Given the description of an element on the screen output the (x, y) to click on. 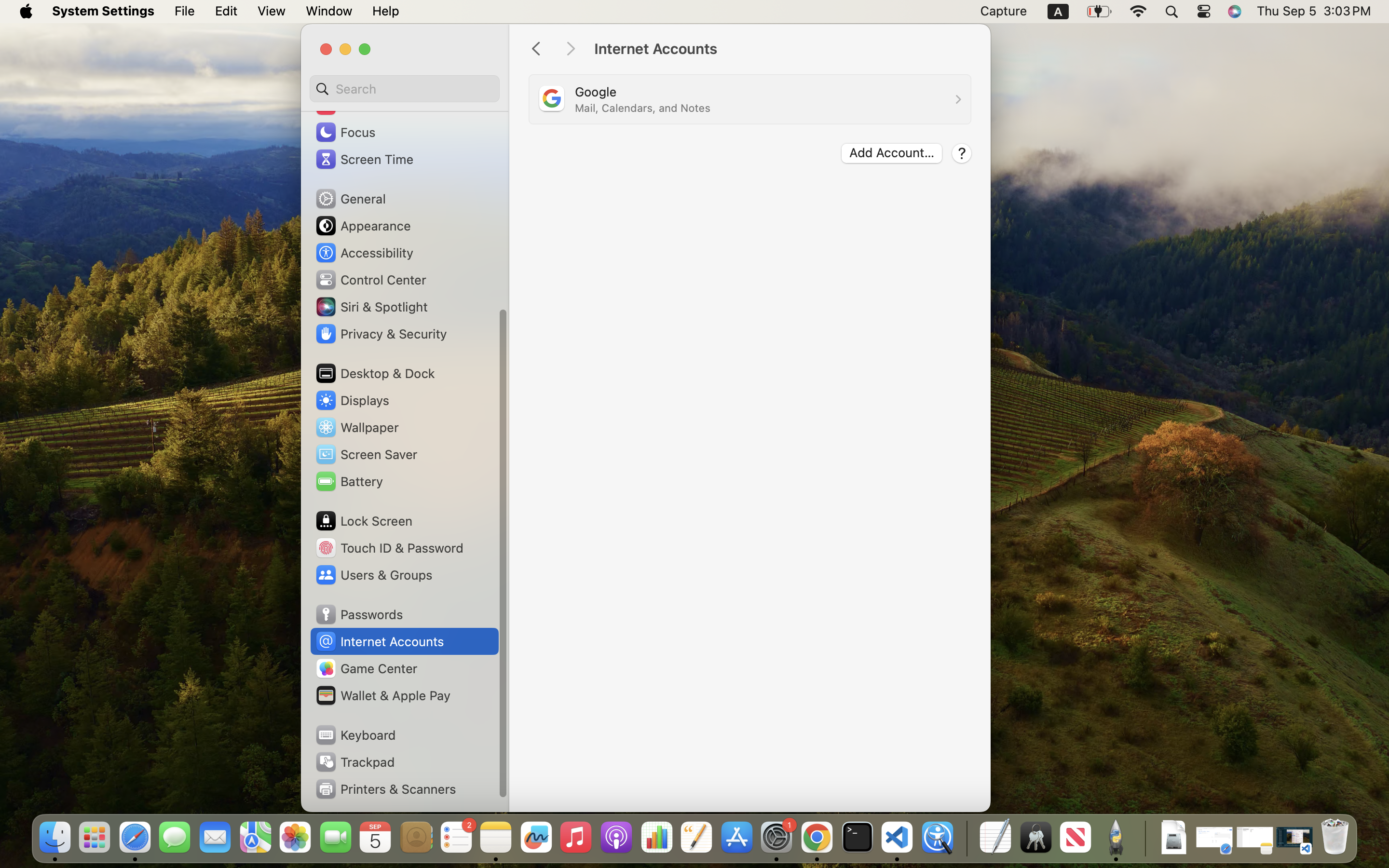
Printers & Scanners Element type: AXStaticText (385, 788)
Appearance Element type: AXStaticText (362, 225)
General Element type: AXStaticText (349, 198)
Sound Element type: AXStaticText (346, 104)
Privacy & Security Element type: AXStaticText (380, 333)
